Given the description of an element on the screen output the (x, y) to click on. 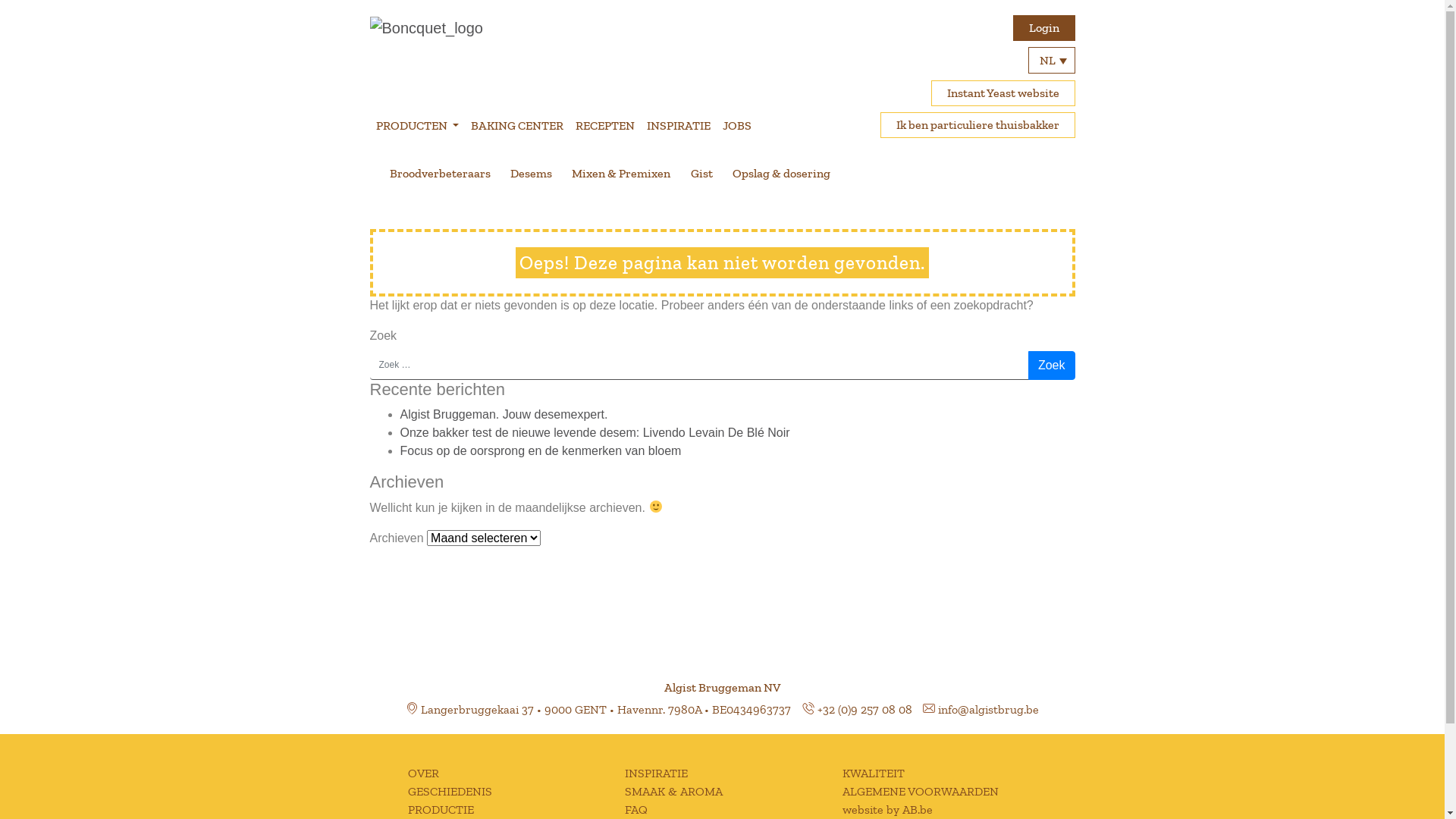
INSPIRATIE Element type: text (655, 773)
RECEPTEN Element type: text (604, 125)
Algist Bruggeman. Jouw desemexpert. Element type: text (504, 413)
Algist Bruggeman Element type: hover (426, 29)
Login Element type: text (1044, 27)
+32 (0)9 257 08 08 Element type: text (864, 709)
Focus op de oorsprong en de kenmerken van bloem Element type: text (540, 450)
OVER Element type: text (423, 773)
Broodverbeteraars Element type: text (439, 173)
Desems Element type: text (531, 173)
Ik ben particuliere thuisbakker Element type: text (976, 125)
JOBS Element type: text (736, 125)
Zoek Element type: text (1051, 365)
ALGEMENE VOORWAARDEN Element type: text (920, 791)
KWALITEIT Element type: text (873, 773)
Opslag & dosering Element type: text (781, 173)
Mixen & Premixen Element type: text (620, 173)
INSPIRATIE Element type: text (678, 125)
NL Element type: text (1051, 60)
BAKING CENTER Element type: text (516, 125)
PRODUCTEN Element type: text (417, 125)
GESCHIEDENIS Element type: text (449, 791)
Gist Element type: text (701, 173)
SMAAK & AROMA Element type: text (673, 791)
info@algistbrug.be Element type: text (988, 709)
Instant Yeast website Element type: text (1003, 93)
